Given the description of an element on the screen output the (x, y) to click on. 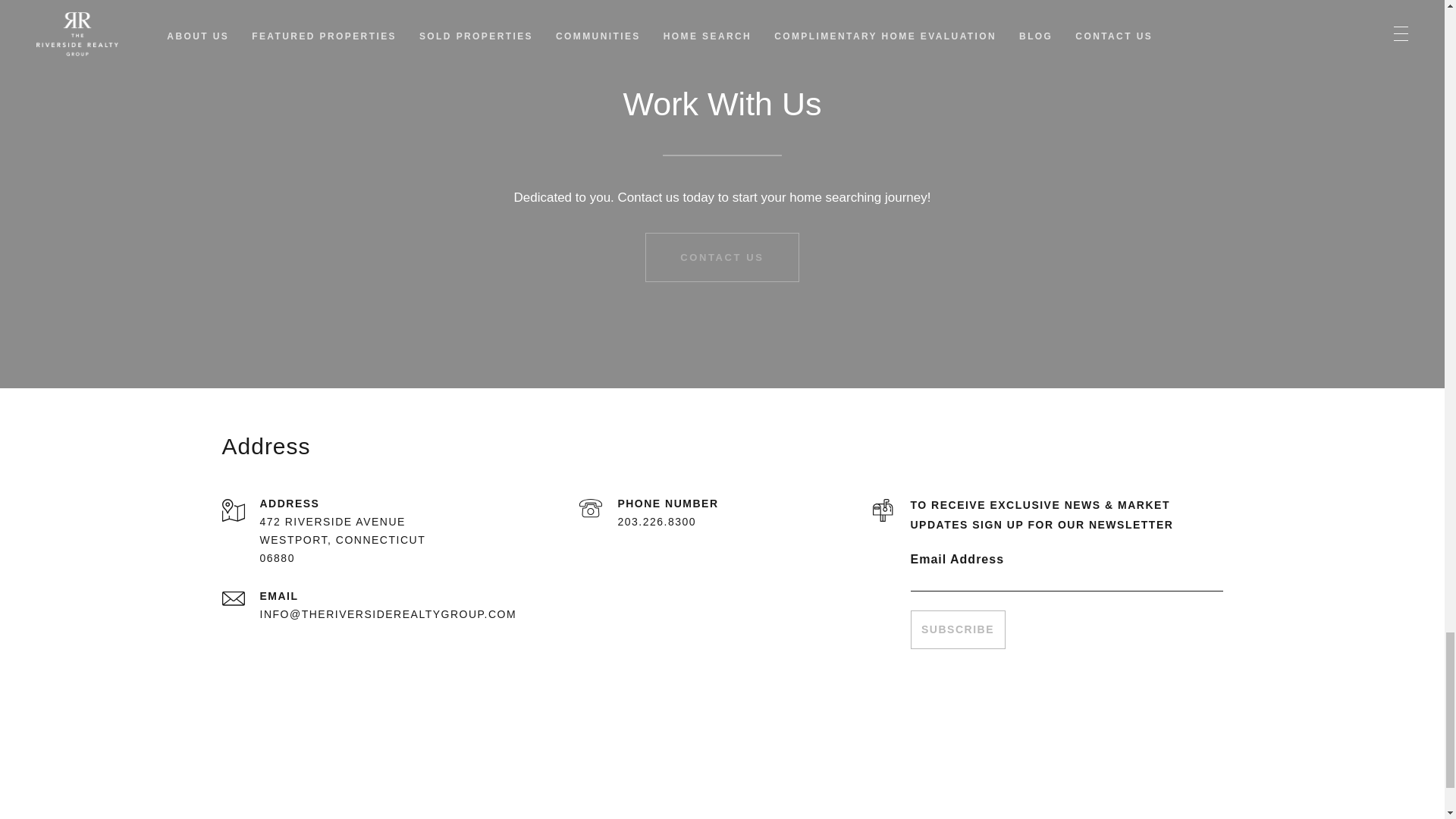
CONTACT US (722, 256)
SUBSCRIBE (957, 629)
203.226.8300 (656, 522)
SUBSCRIBE (957, 629)
